Given the description of an element on the screen output the (x, y) to click on. 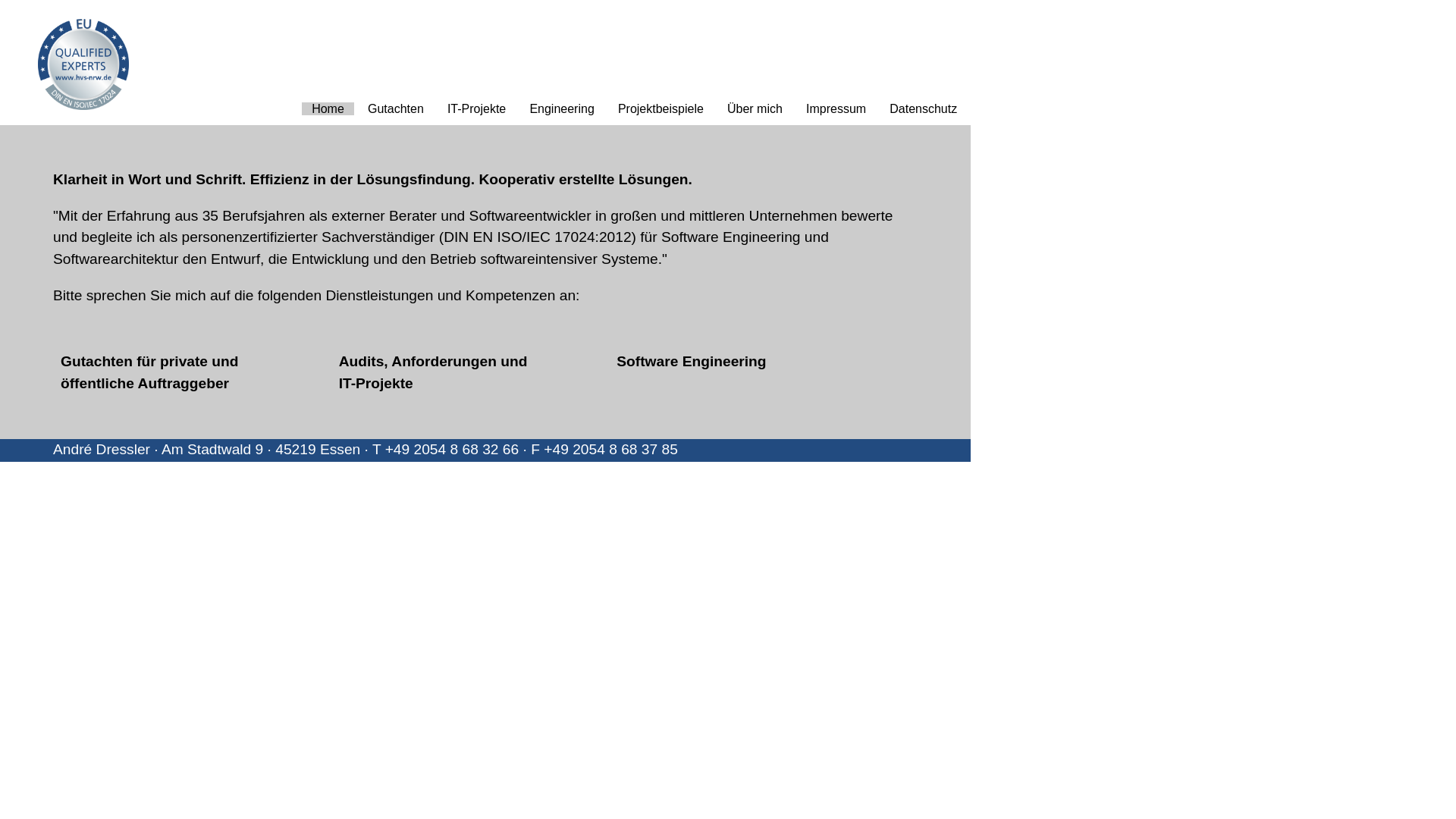
   Home    Element type: text (327, 108)
   IT-Projekte    Element type: text (476, 108)
   Gutachten    Element type: text (395, 108)
   Projektbeispiele    Element type: text (661, 108)
Audits, Anforderungen und
IT-Projekte Element type: text (432, 372)
   Datenschutz    Element type: text (923, 108)
   Impressum    Element type: text (836, 108)
   Engineering    Element type: text (561, 108)
Software Engineering Element type: text (690, 361)
